Given the description of an element on the screen output the (x, y) to click on. 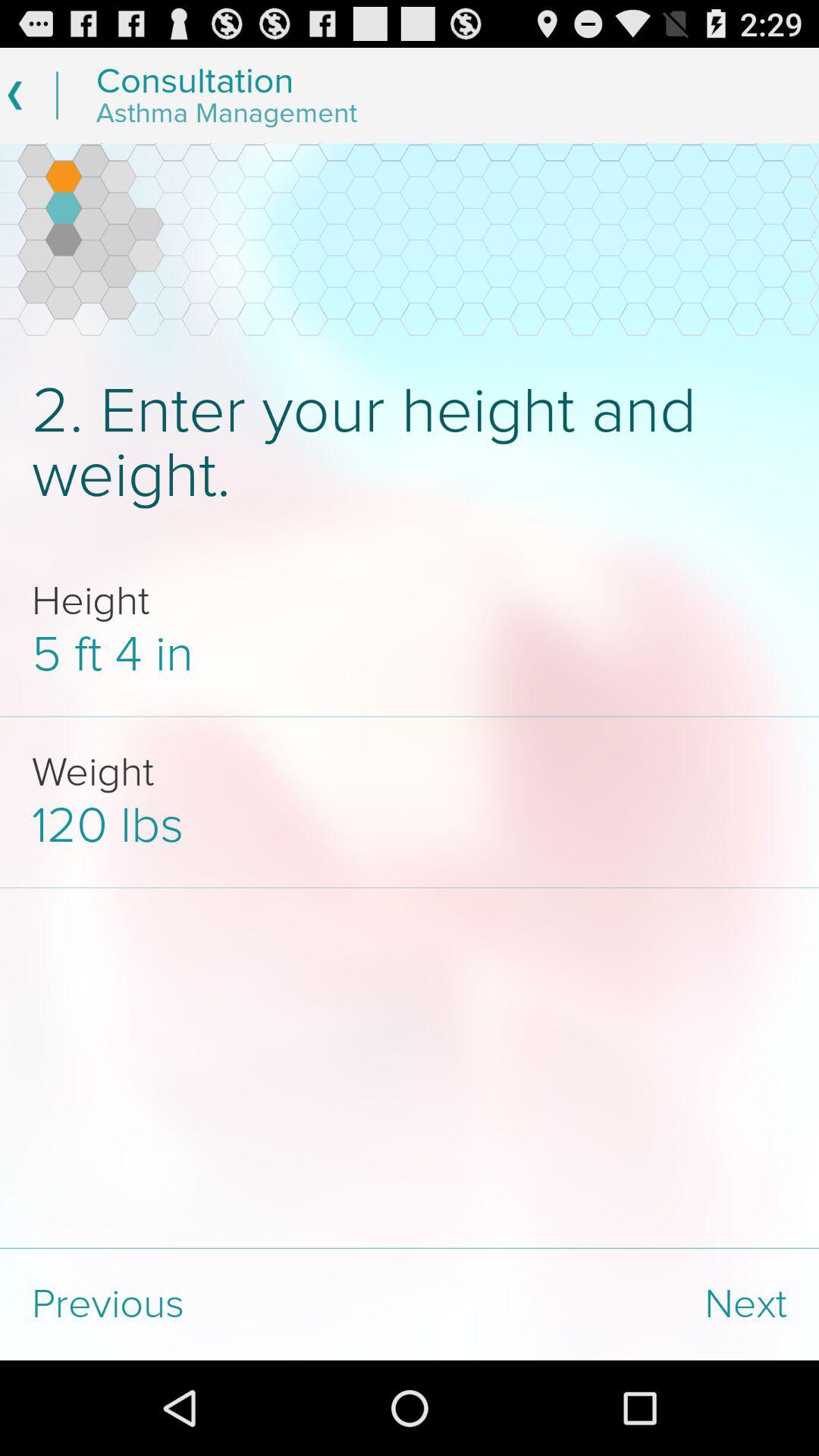
flip until 120 lbs icon (409, 825)
